Given the description of an element on the screen output the (x, y) to click on. 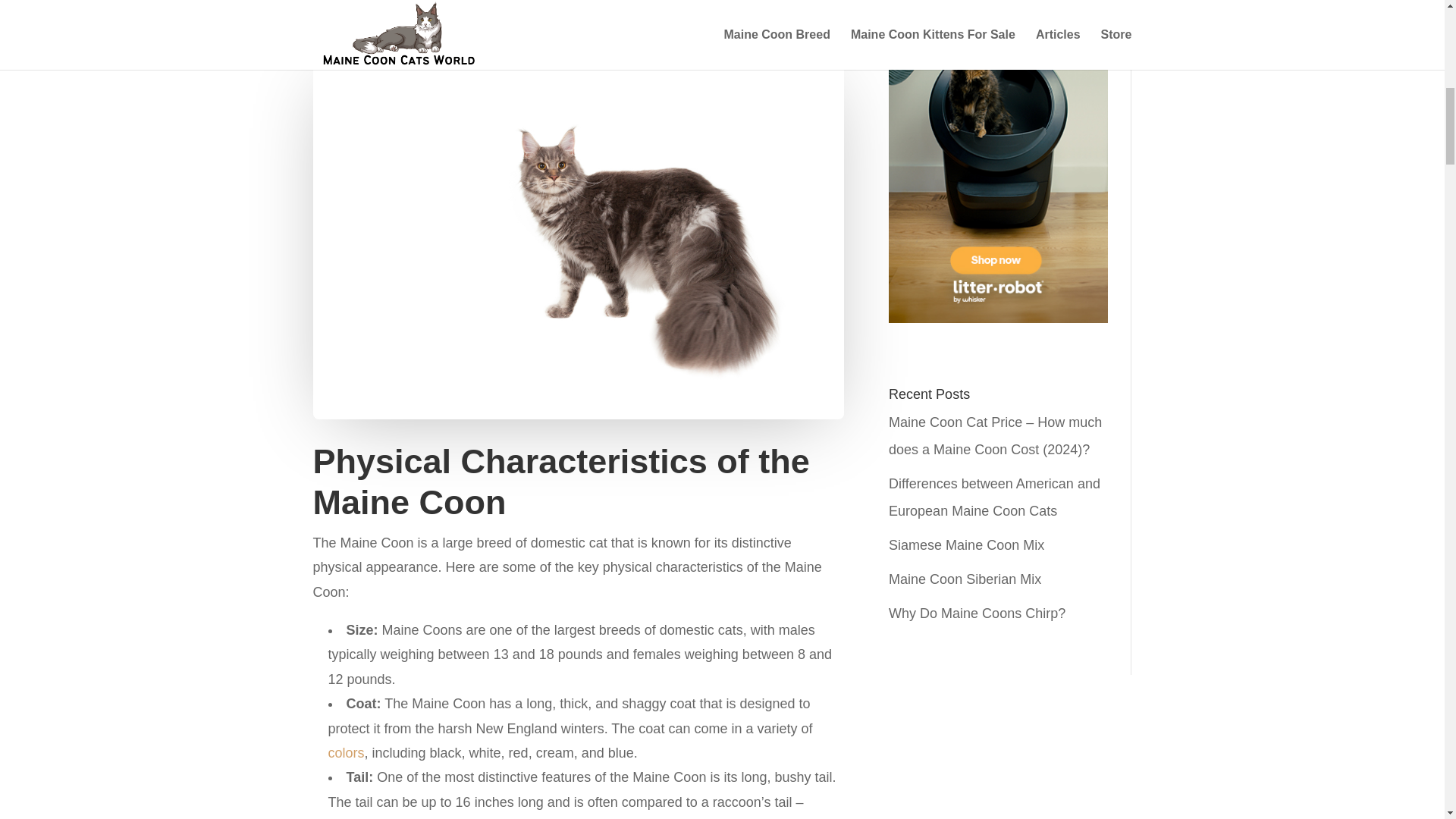
Siamese Maine Coon Mix (965, 544)
Why Do Maine Coons Chirp? (976, 613)
Maine Coon Siberian Mix (964, 579)
Differences between American and European Maine Coon Cats (994, 496)
colors (345, 752)
colors (345, 752)
